Given the description of an element on the screen output the (x, y) to click on. 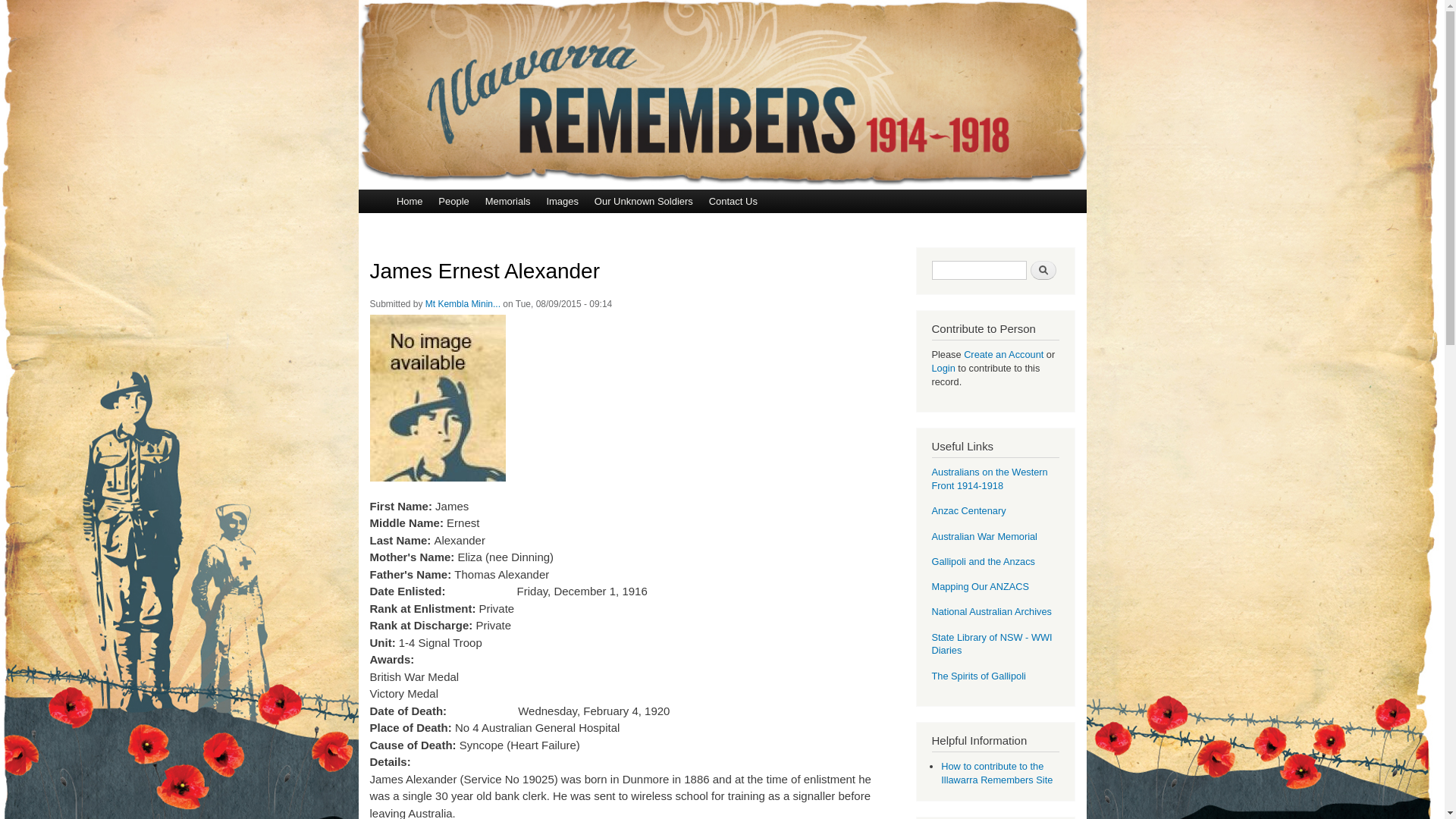
Our Unknown Soldiers Element type: text (643, 201)
Gallipoli and the Anzacs Element type: text (982, 561)
Mt Kembla Minin... Element type: text (462, 303)
Australians on the Western Front 1914-1918 Element type: text (989, 478)
How to contribute to the Illawarra Remembers Site Element type: text (996, 772)
Memorials Element type: text (507, 201)
The Spirits of Gallipoli Element type: text (978, 675)
Search Element type: text (1043, 269)
Images Element type: text (562, 201)
Enter the terms you wish to search for. Element type: hover (978, 269)
Skip to main content Element type: text (690, 1)
Australian War Memorial Element type: text (983, 536)
Create an Account Element type: text (1003, 354)
Contact Us Element type: text (732, 201)
People Element type: text (453, 201)
Login  Element type: text (944, 367)
Mapping Our ANZACS Element type: text (980, 586)
Home Element type: text (408, 201)
State Library of NSW - WWI Diaries Element type: text (991, 643)
Anzac Centenary Element type: text (968, 510)
National Australian Archives Element type: text (991, 611)
